Given the description of an element on the screen output the (x, y) to click on. 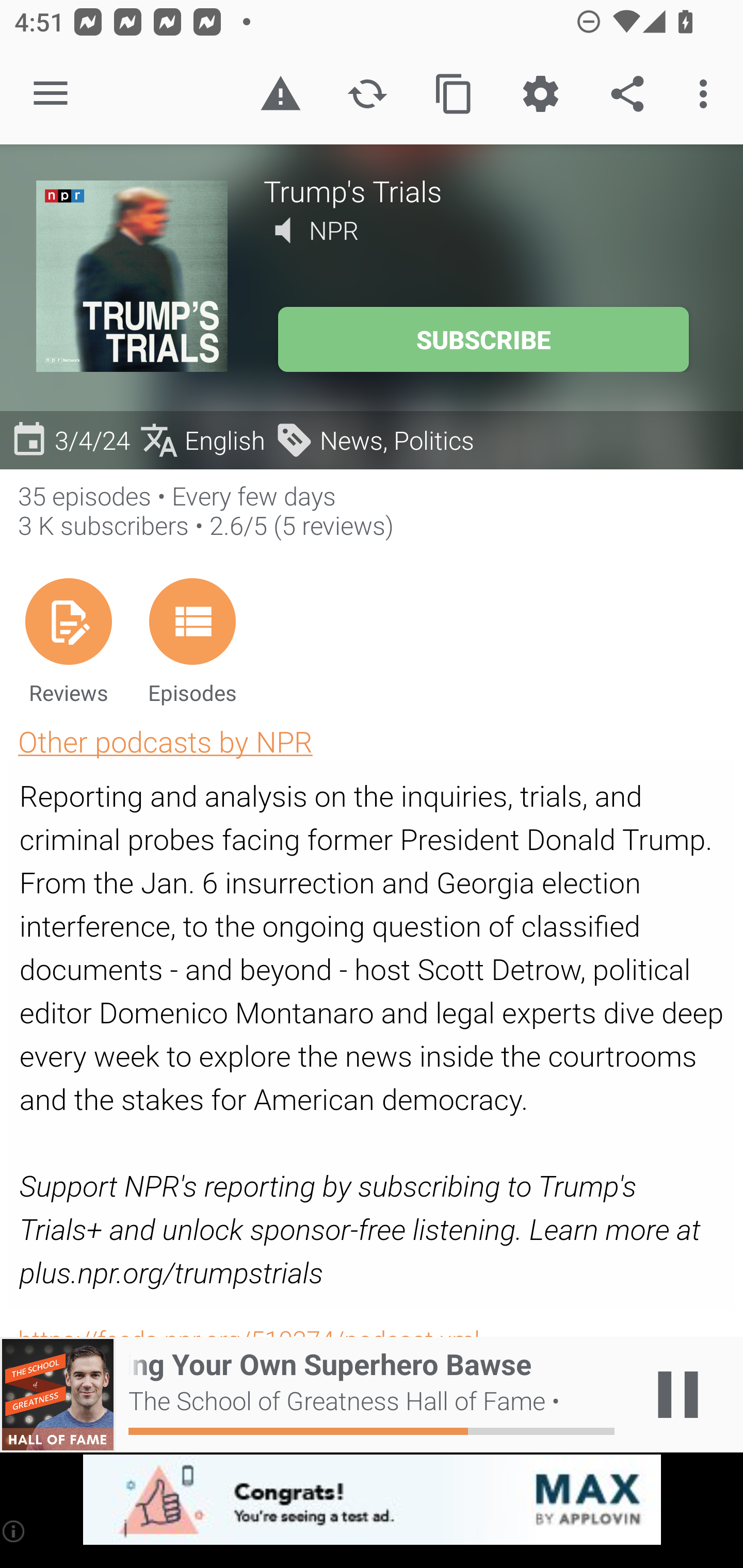
Open navigation sidebar (50, 93)
Report inappropriate content (280, 93)
Refresh podcast description (366, 93)
Copy feed url to clipboard (453, 93)
Custom Settings (540, 93)
Share the podcast (626, 93)
More options (706, 93)
Trump's Trials (484, 190)
NPR (333, 230)
SUBSCRIBE (482, 339)
News, Politics (374, 439)
Reviews (68, 640)
Episodes (192, 640)
Other podcasts by NPR (164, 740)
Play / Pause (677, 1394)
app-monetization (371, 1500)
(i) (14, 1531)
